Given the description of an element on the screen output the (x, y) to click on. 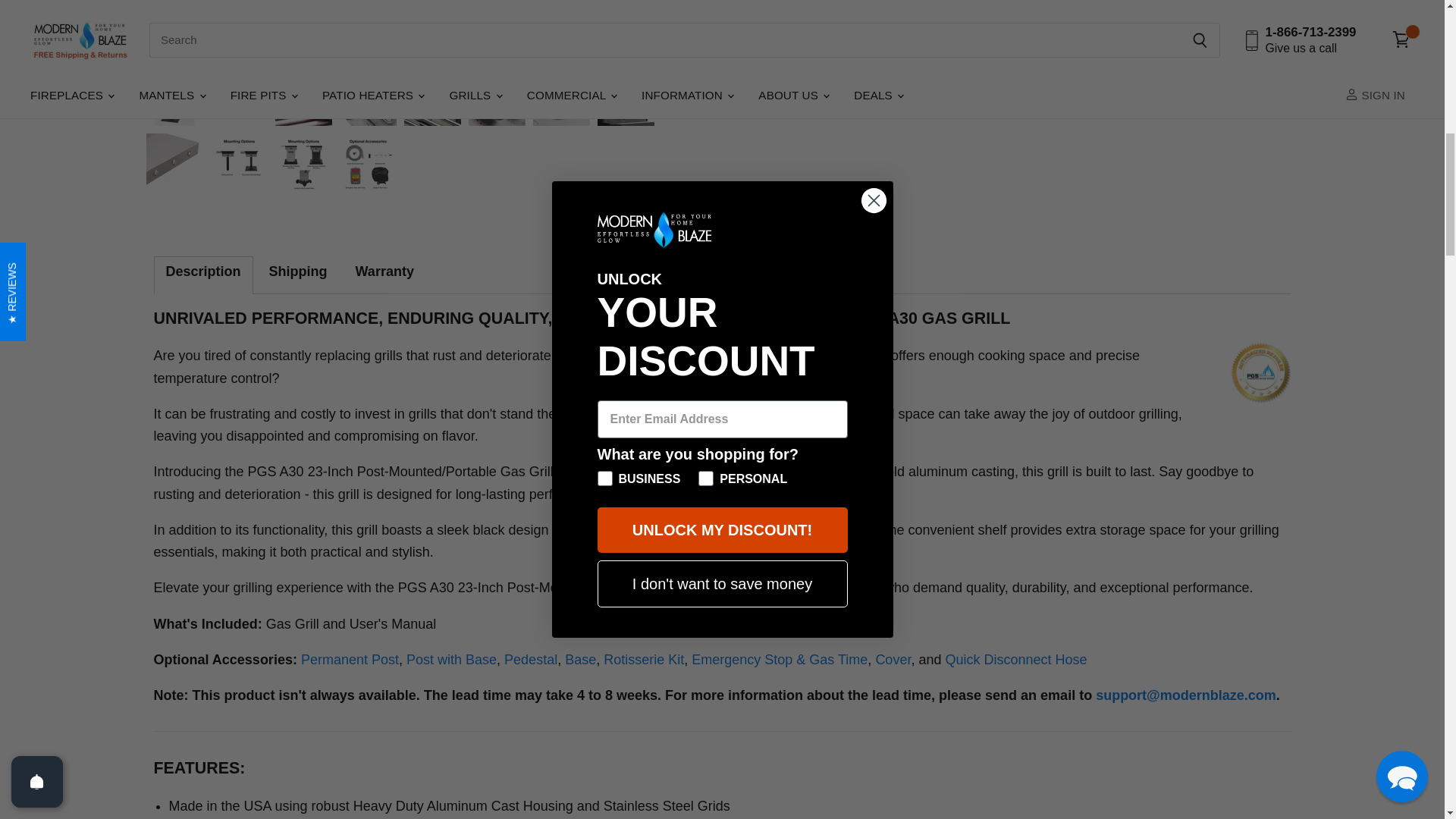
PGS Emergency Stop with Timer (779, 659)
PGS Rotisserie Set for A-Series Gas Grills (644, 659)
PGS 12-Feet Quick Disconnect Hose (1015, 659)
customer support (1186, 694)
PGS Cover for A-Series Gas Grills (893, 659)
